Given the description of an element on the screen output the (x, y) to click on. 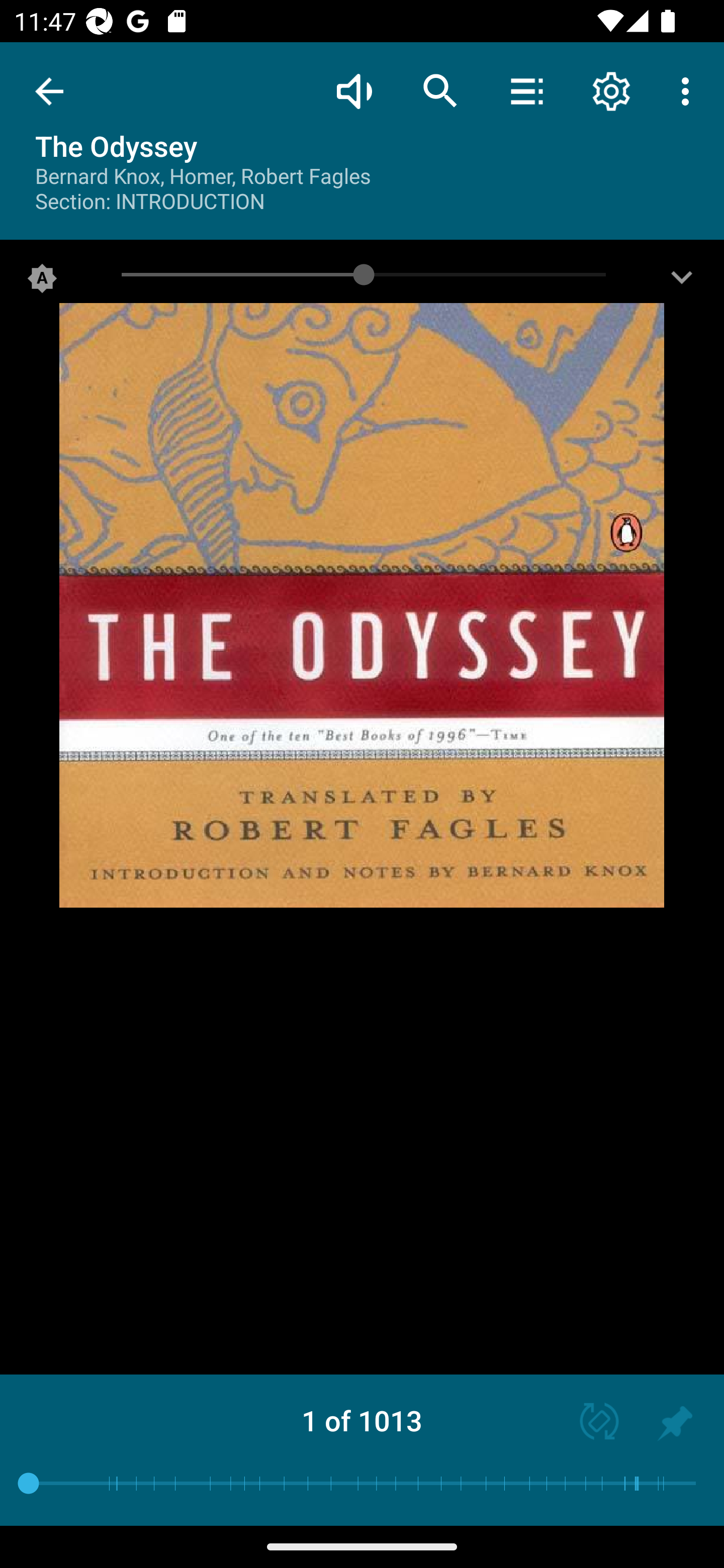
Exit reading (49, 91)
Read aloud (354, 90)
Text search (440, 90)
Contents / Bookmarks / Quotes (526, 90)
Reading settings (611, 90)
More options (688, 90)
Selected screen brightness (42, 281)
Screen brightness settings (681, 281)
1 of 1013 (361, 1420)
Screen orientation (590, 1423)
Add to history (674, 1423)
